Given the description of an element on the screen output the (x, y) to click on. 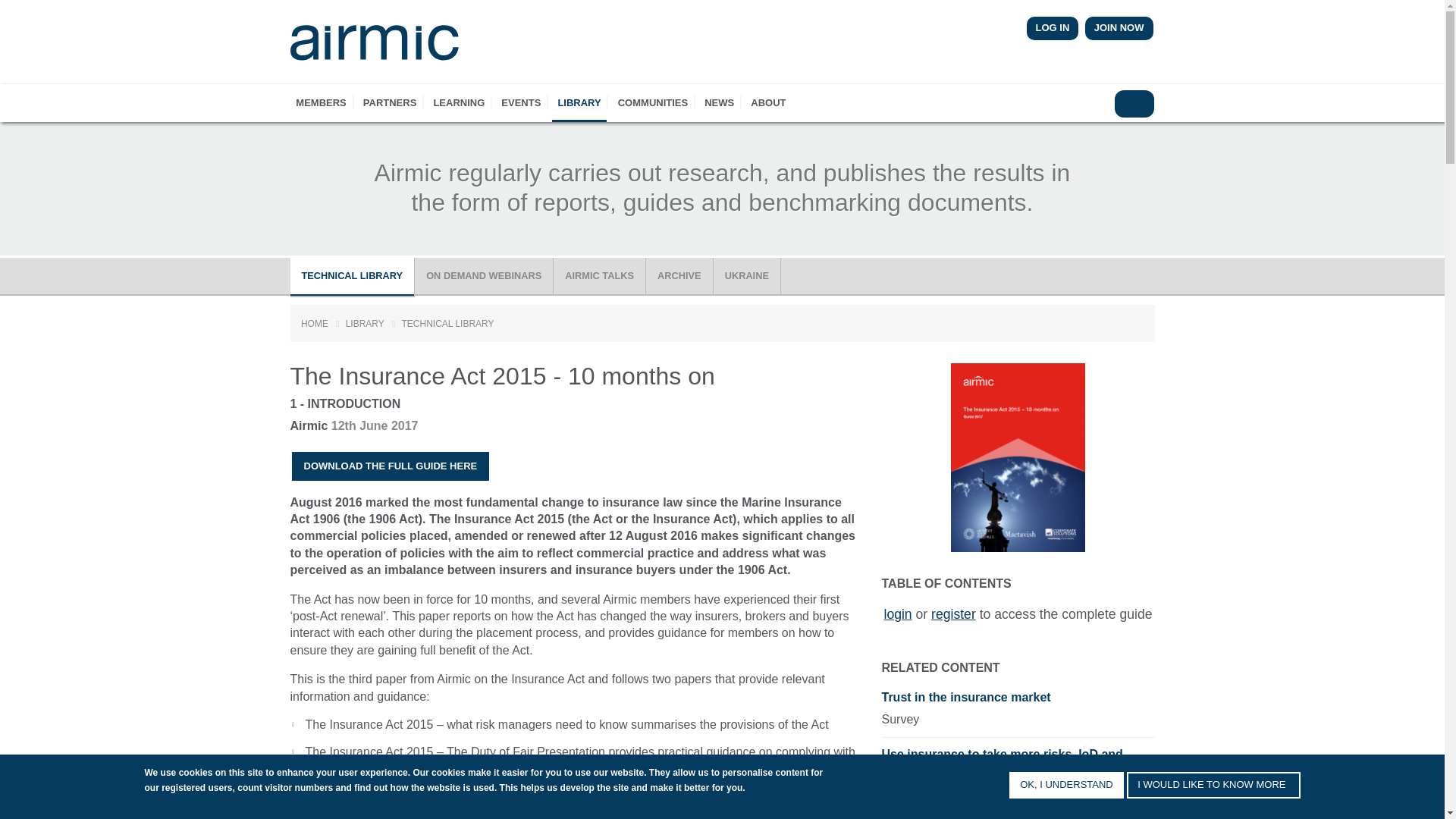
ABOUT (768, 103)
ARCHIVE (679, 275)
JOIN NOW (1118, 28)
ON DEMAND WEBINARS (483, 275)
TECHNICAL LIBRARY (351, 276)
EVENTS (521, 103)
NEWS (718, 103)
DOWNLOAD THE FULL GUIDE HERE (389, 465)
Trust in the insurance market (1017, 700)
